Given the description of an element on the screen output the (x, y) to click on. 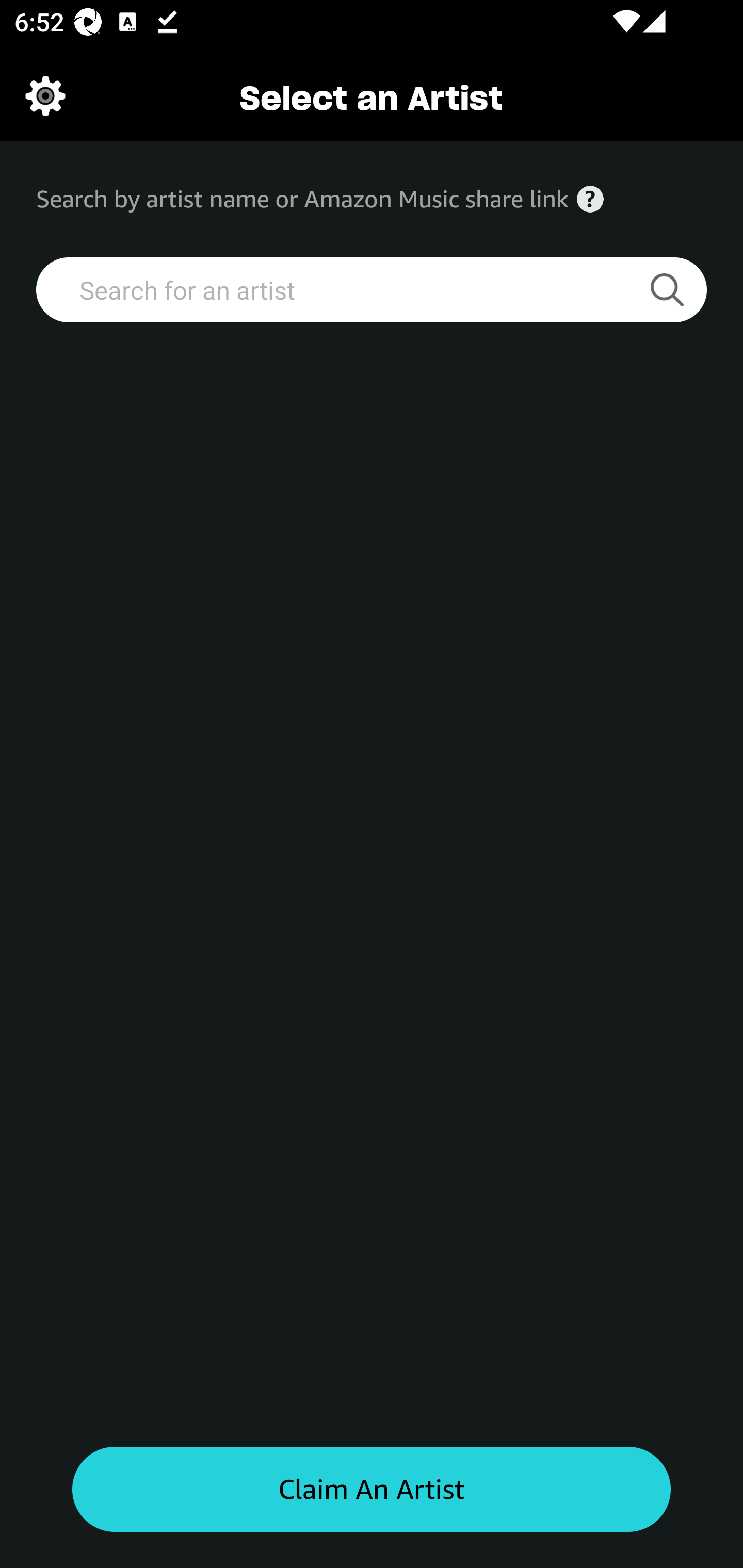
Help  icon (589, 199)
Claim an artist button Claim An Artist (371, 1489)
